Given the description of an element on the screen output the (x, y) to click on. 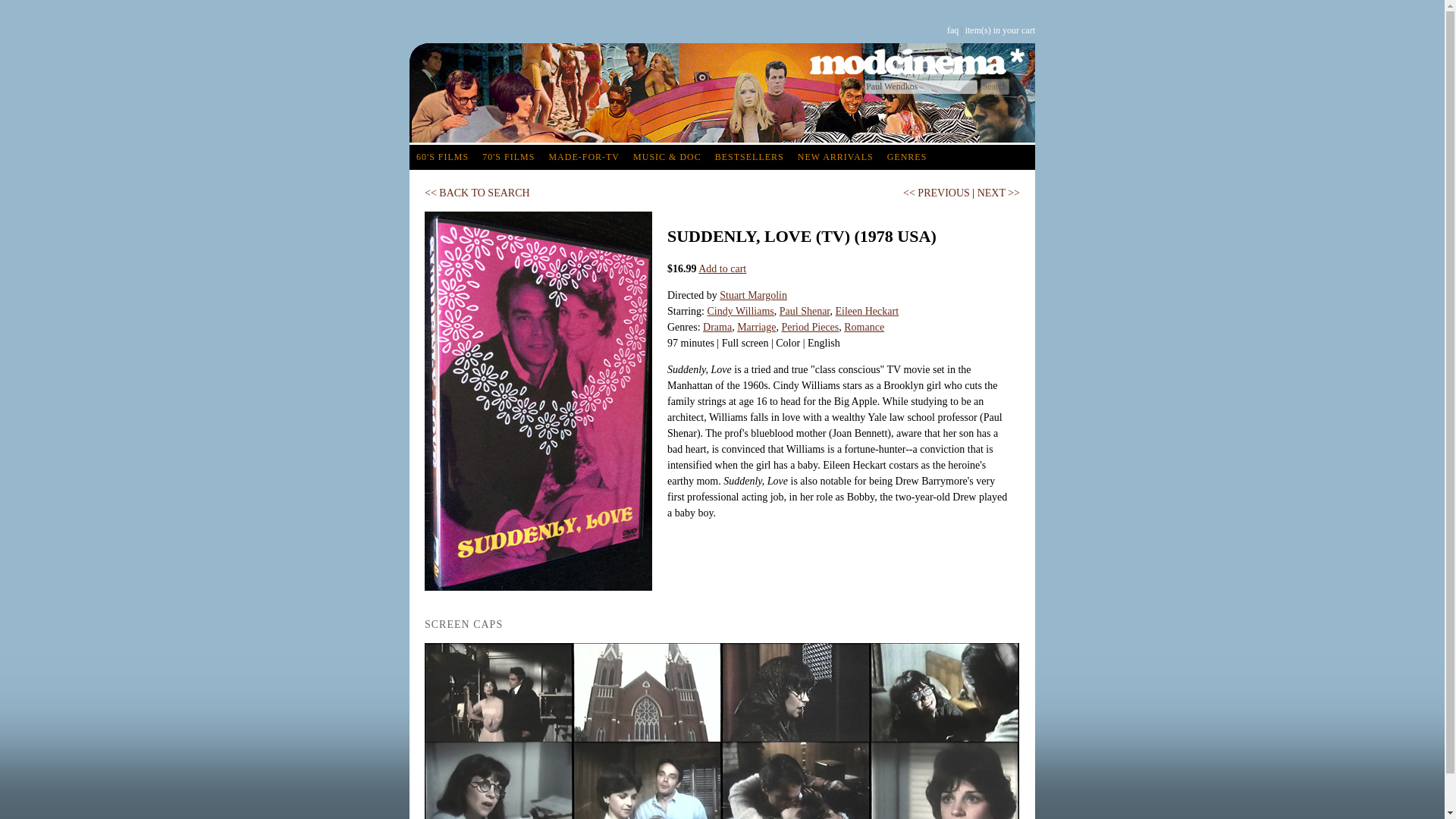
Period Pieces (809, 326)
Marriage (756, 326)
NEW ARRIVALS (835, 156)
Stuart Margolin (753, 295)
70'S FILMS (508, 156)
MADE-FOR-TV (583, 156)
Drama (717, 326)
GENRES (907, 156)
Paul Wendkos (920, 86)
Eileen Heckart (866, 310)
60'S FILMS (442, 156)
Search (994, 86)
Cindy Williams (739, 310)
faq (952, 30)
Search (994, 86)
